Given the description of an element on the screen output the (x, y) to click on. 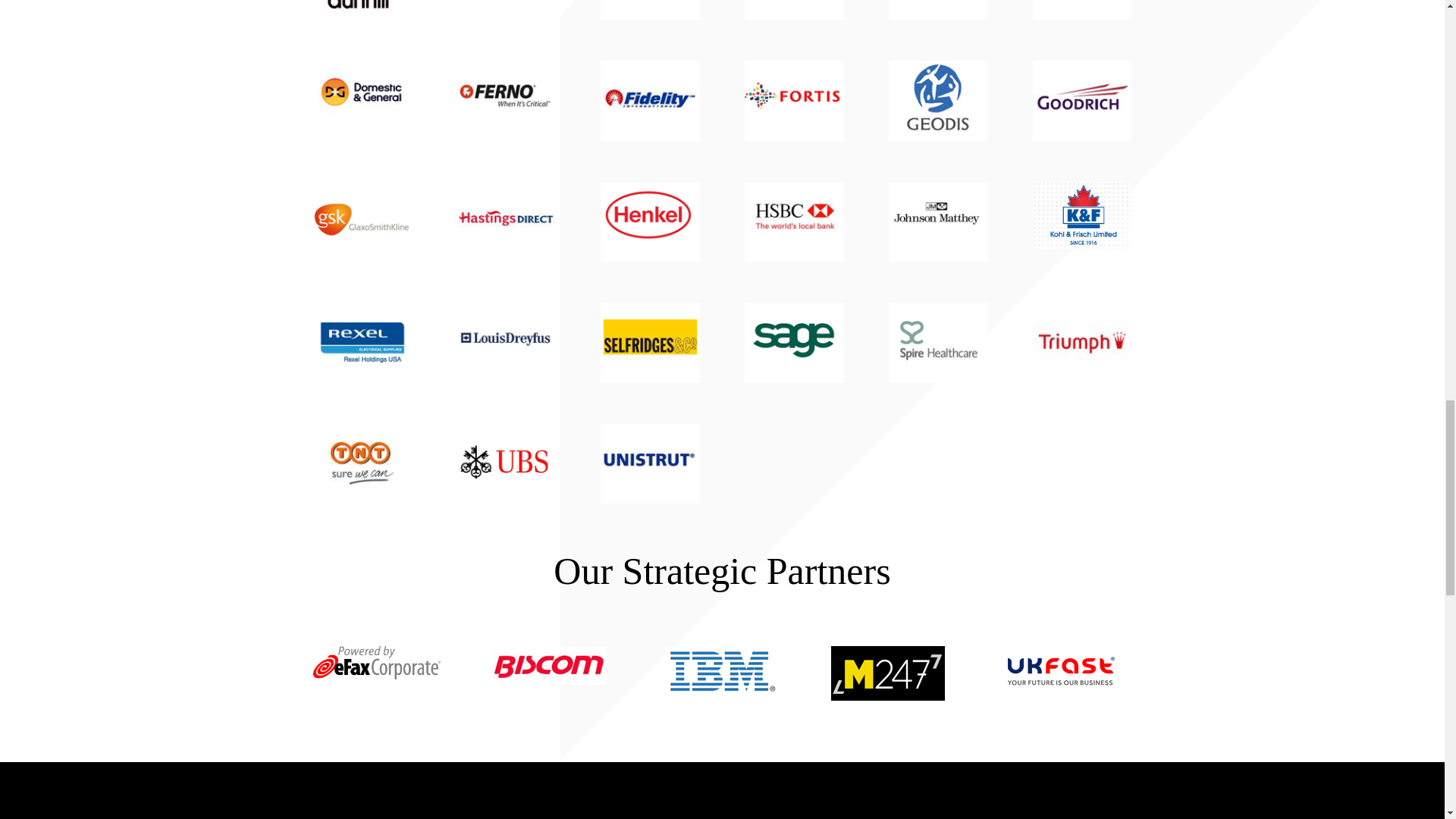
alfreddunhill (361, 10)
